Given the description of an element on the screen output the (x, y) to click on. 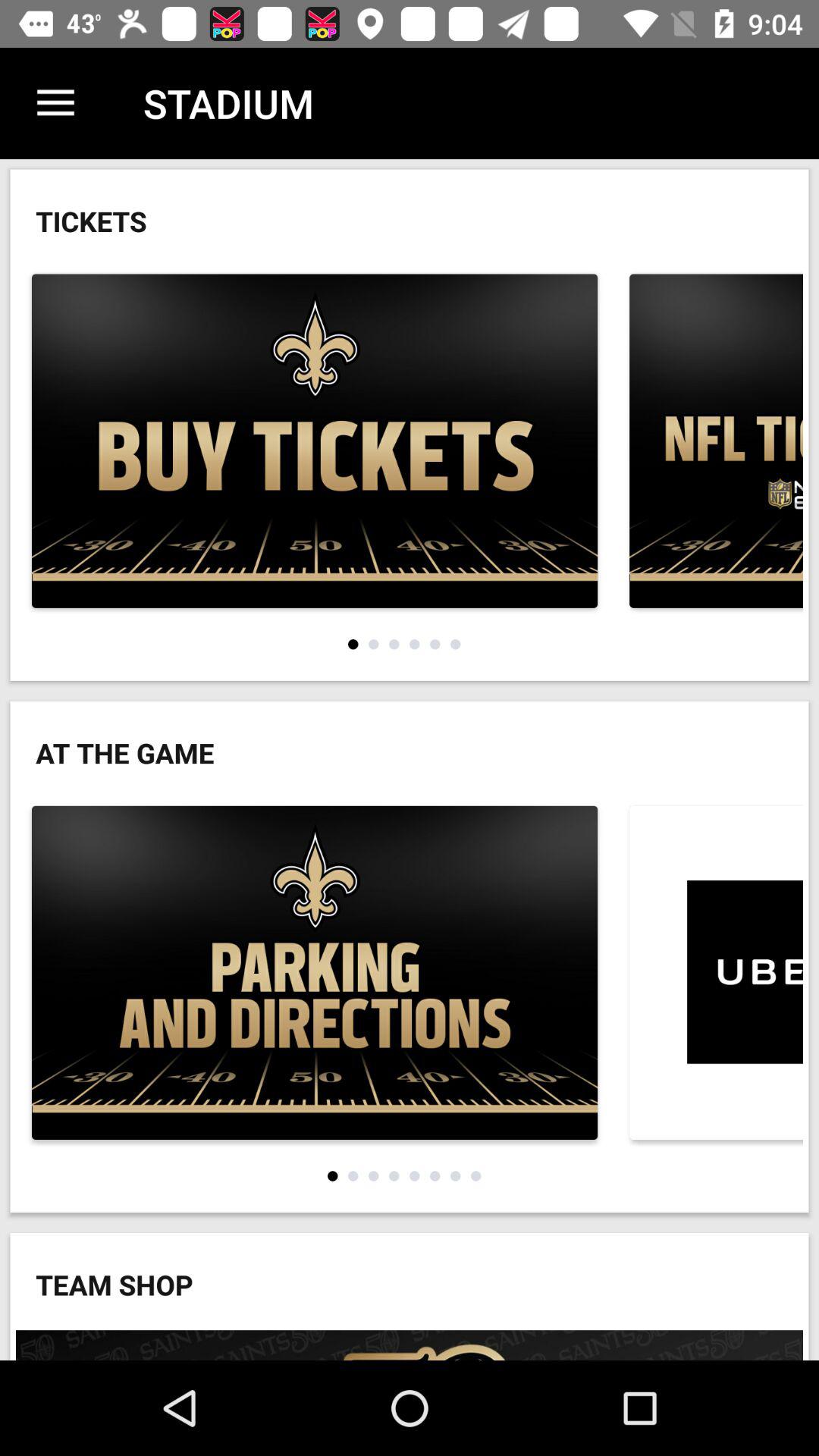
launch item above tickets (55, 103)
